Given the description of an element on the screen output the (x, y) to click on. 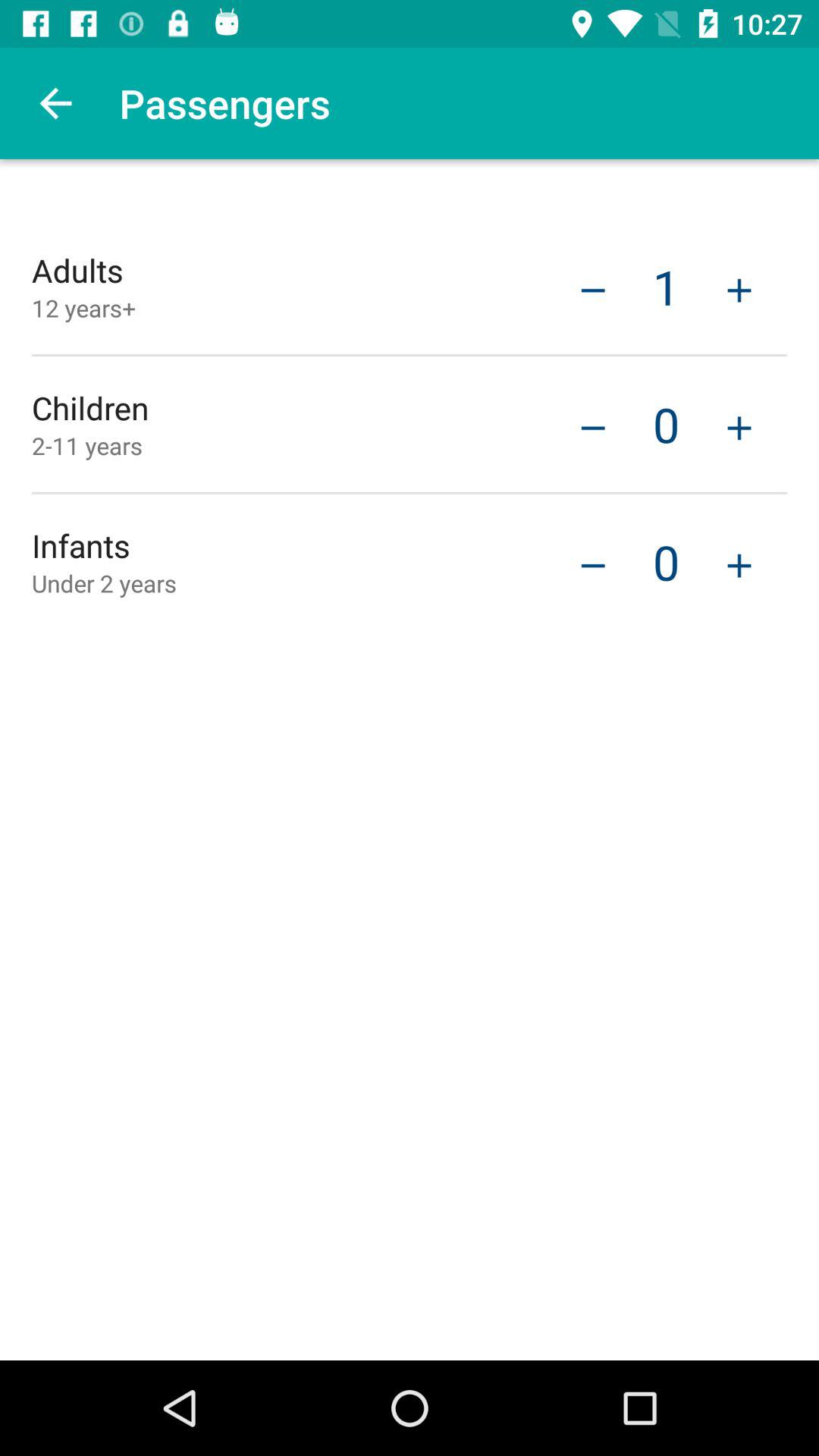
negative symbol (592, 288)
